Given the description of an element on the screen output the (x, y) to click on. 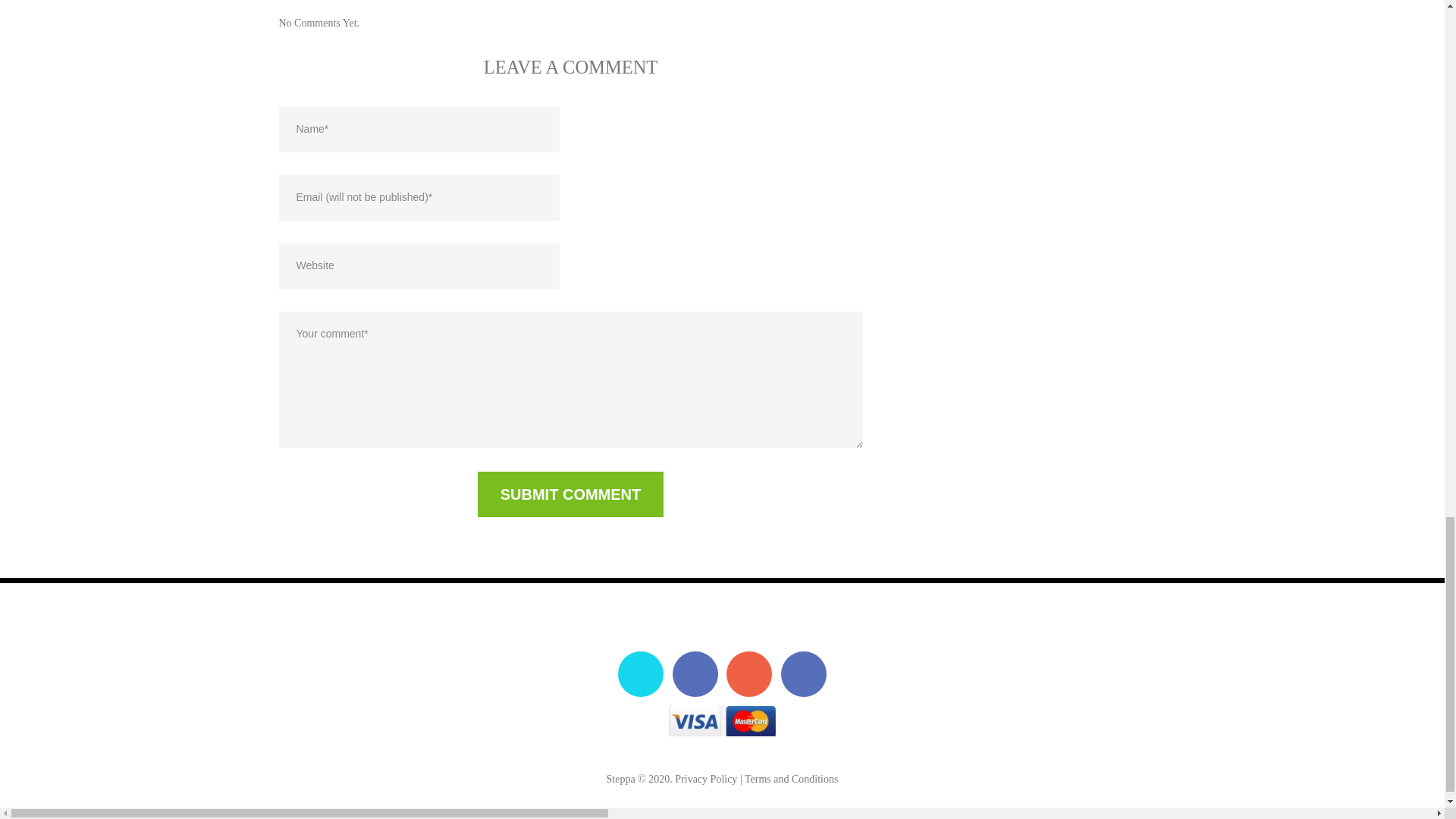
Website (419, 266)
Submit Comment (570, 493)
Privacy Policy (705, 778)
